Given the description of an element on the screen output the (x, y) to click on. 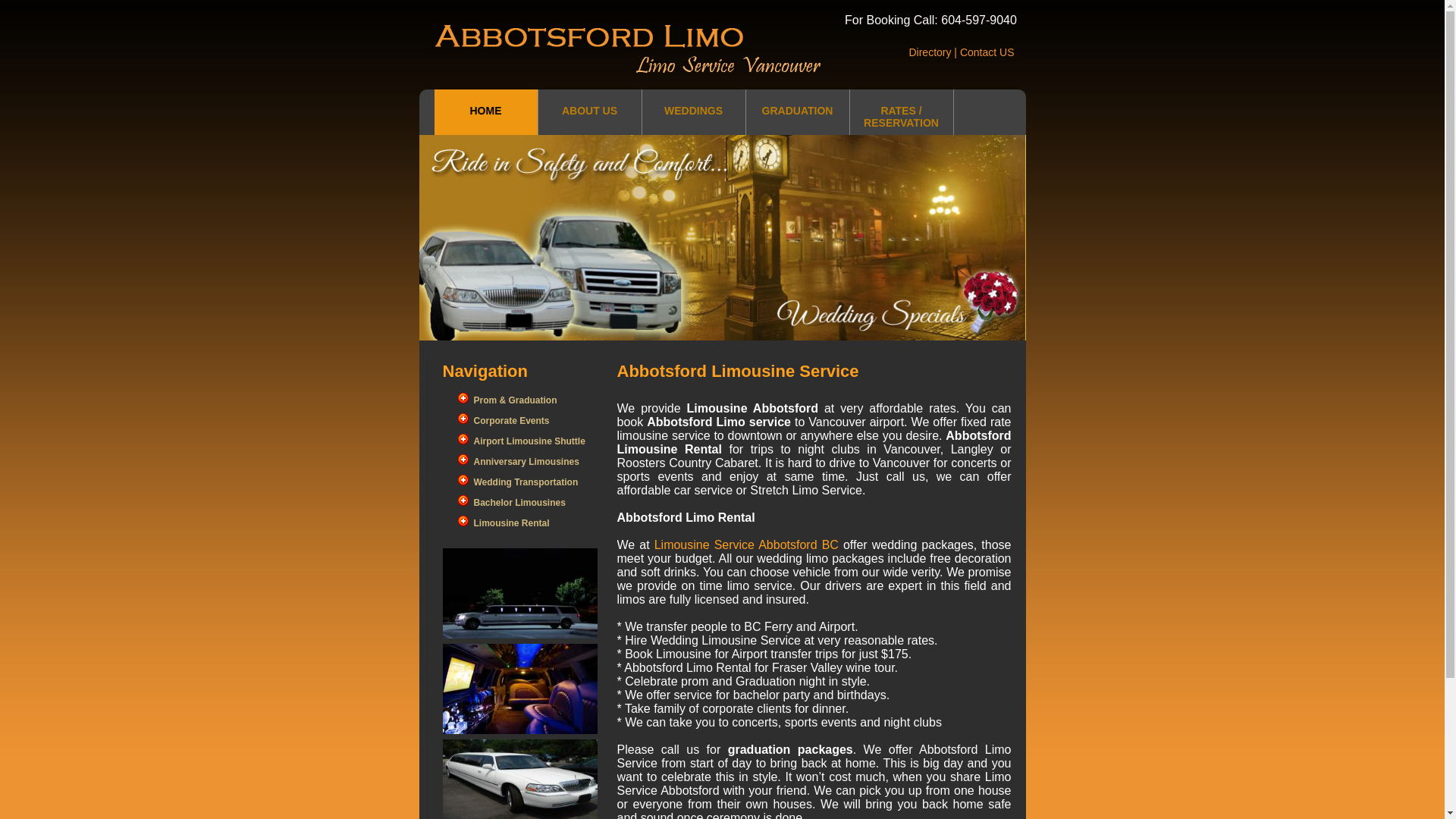
WEDDINGS Element type: text (693, 114)
Abbotsford Limo Service Element type: hover (721, 237)
Bachelor Limousines Element type: text (518, 502)
Prom & Graduation Element type: text (514, 400)
GRADUATION Element type: text (798, 114)
HOME Element type: text (485, 114)
Anniversary Limousines Element type: text (525, 461)
Wedding Transportation Element type: text (525, 481)
RATES / RESERVATION Element type: text (901, 120)
Directory Element type: text (929, 52)
Limousine Rental Element type: text (511, 522)
Corporate Limo Abbotsford Element type: hover (519, 688)
ABOUT US Element type: text (590, 114)
Airport Limousine Shuttle Element type: text (528, 441)
Wedding Limo Abbotsford Element type: hover (519, 593)
Corporate Events Element type: text (511, 420)
Limousine Service Abbotsford BC Element type: text (746, 544)
Contact US Element type: text (987, 52)
